Given the description of an element on the screen output the (x, y) to click on. 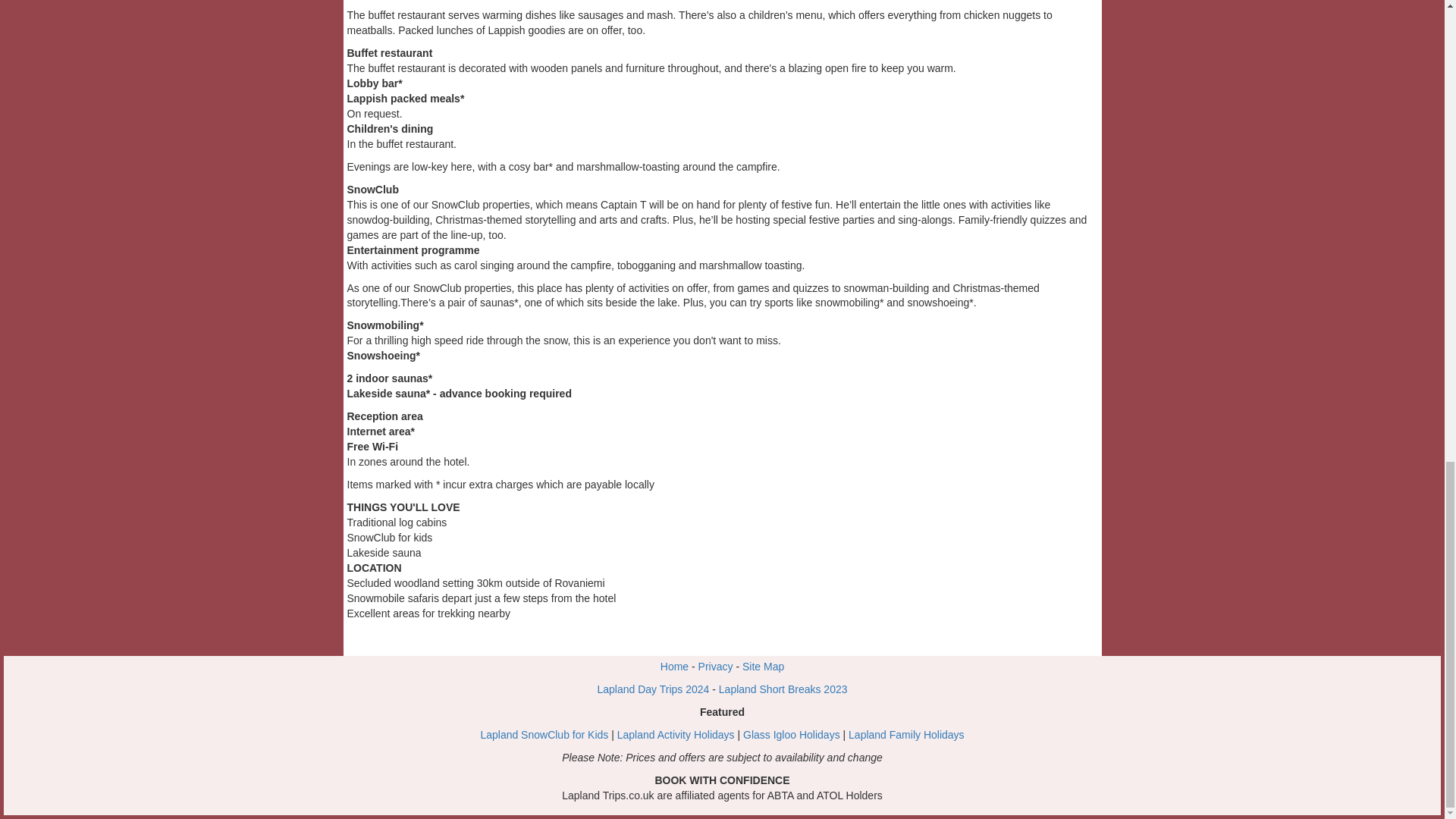
Lapland Short Breaks 2023 (783, 689)
Site Map (763, 666)
Lapland Day Trips 2024 (652, 689)
Privacy (715, 666)
Home (674, 666)
